Given the description of an element on the screen output the (x, y) to click on. 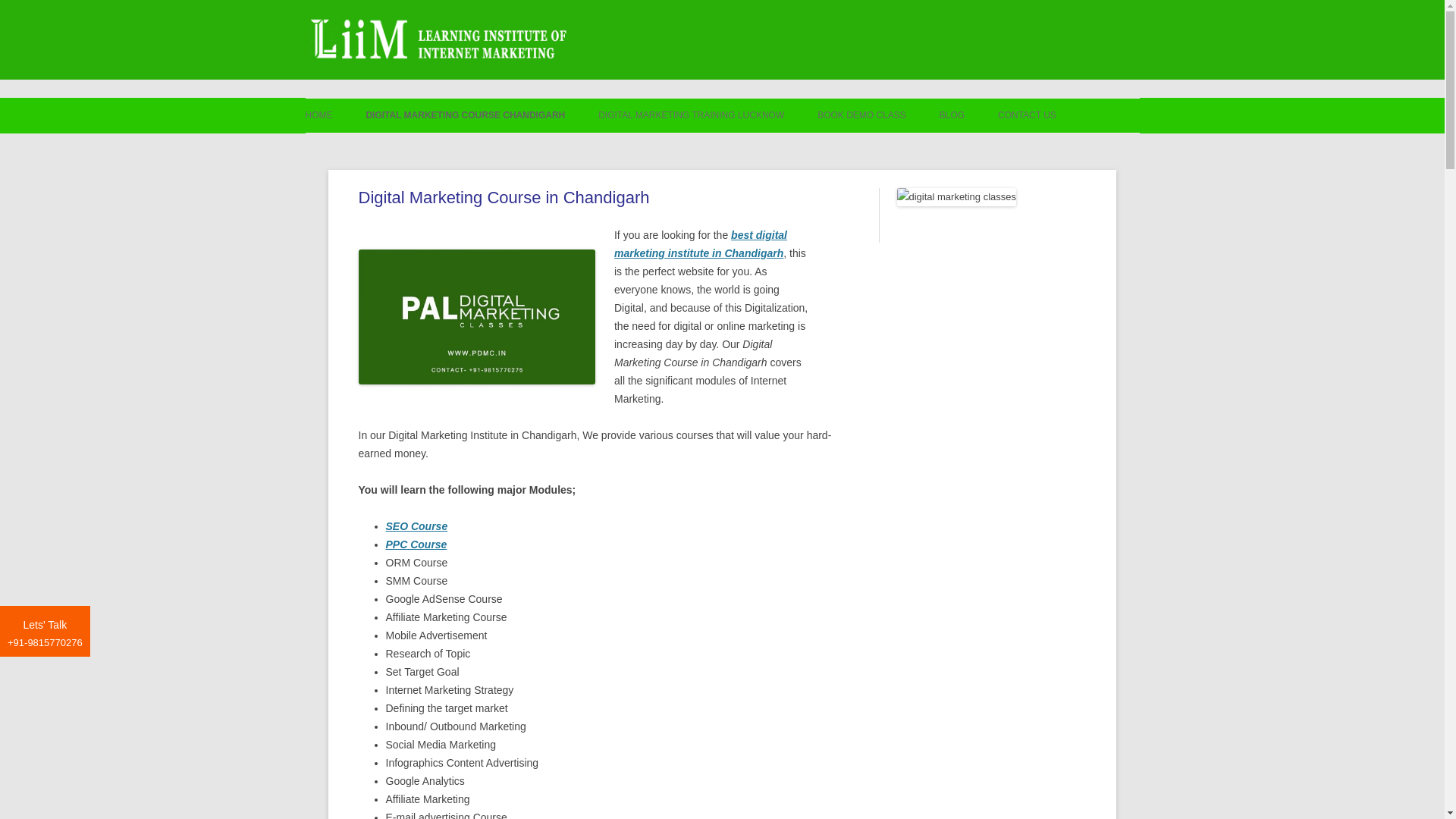
DIGITAL MARKETING COURSE CHANDIGARH (464, 114)
SEO Course (415, 526)
best digital marketing institute in Chandigarh (700, 244)
PPC COURSE IN LUCKNOW (673, 147)
DIGITAL MARKETING TRAINING LUCKNOW (691, 114)
PPC Course (415, 544)
BOOK DEMO CLASS (860, 114)
CONTACT US (1027, 114)
